Given the description of an element on the screen output the (x, y) to click on. 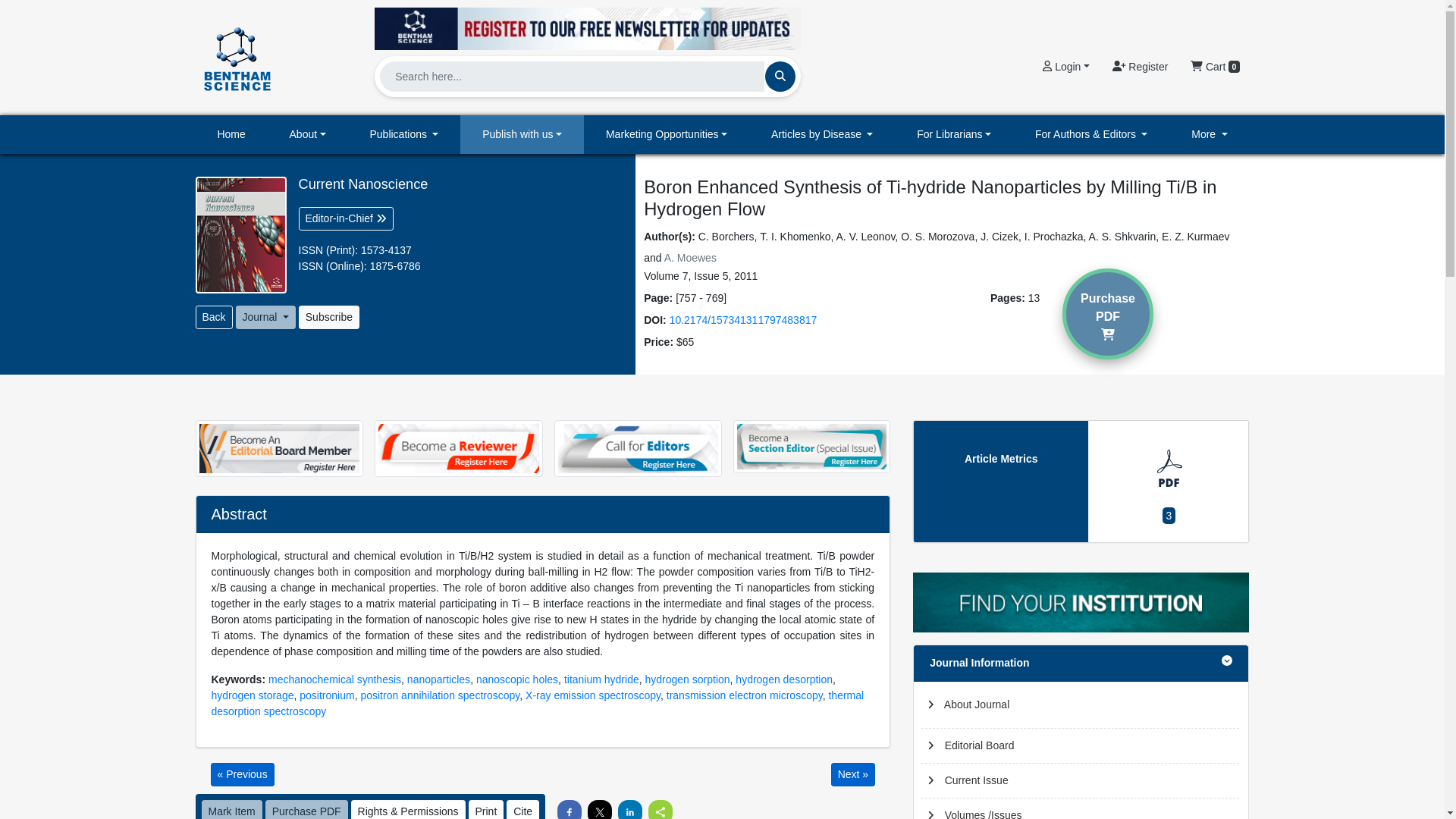
Cart 0 (1214, 67)
About (307, 134)
Home (231, 134)
Search Button (779, 76)
newsletter banner (587, 28)
Register (1139, 67)
newsletter banner (587, 24)
Publications (404, 134)
Login (1065, 67)
